Given the description of an element on the screen output the (x, y) to click on. 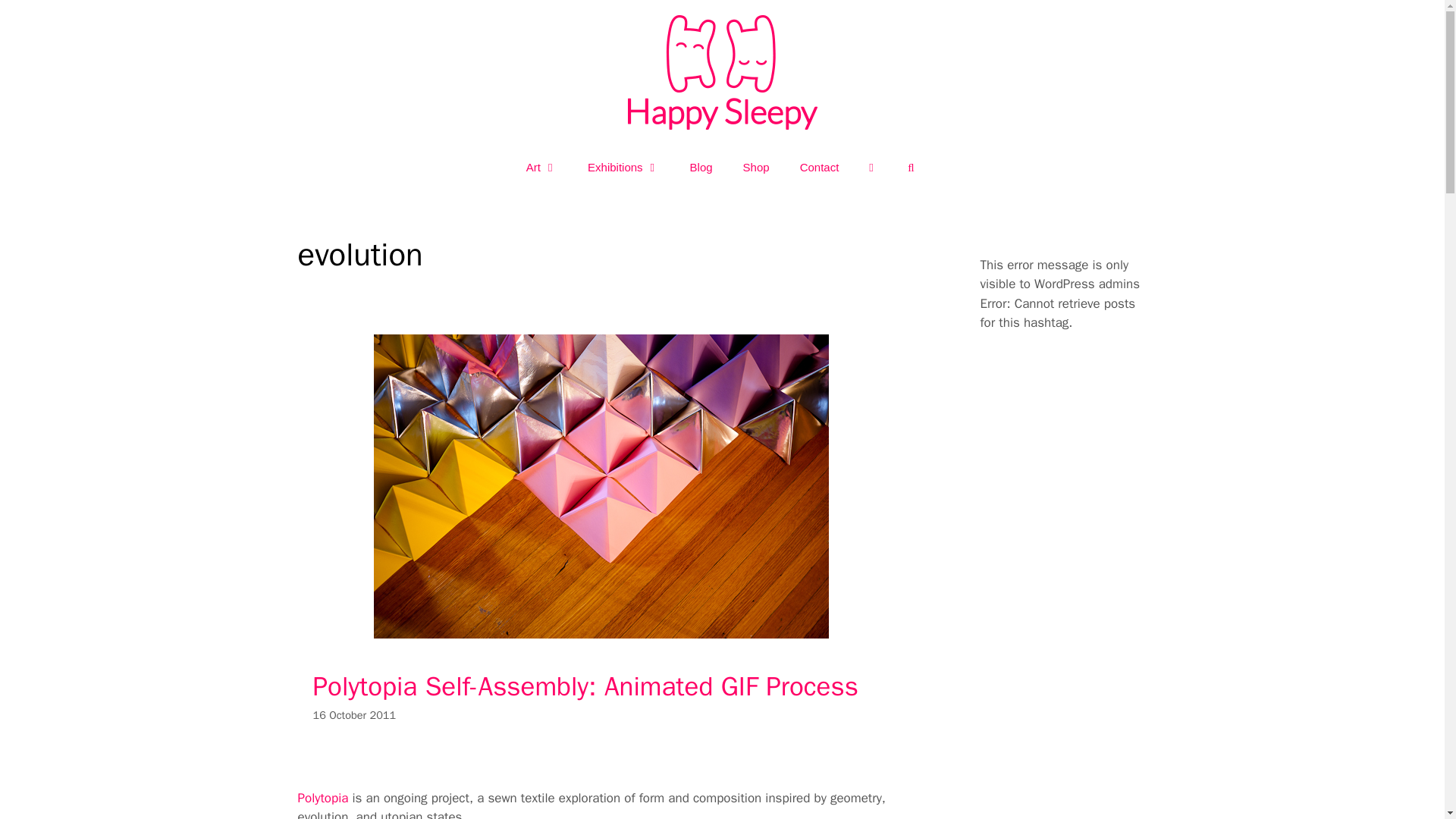
Blog (701, 167)
Art (541, 167)
Contact (819, 167)
Shop (756, 167)
Exhibitions (623, 167)
